Given the description of an element on the screen output the (x, y) to click on. 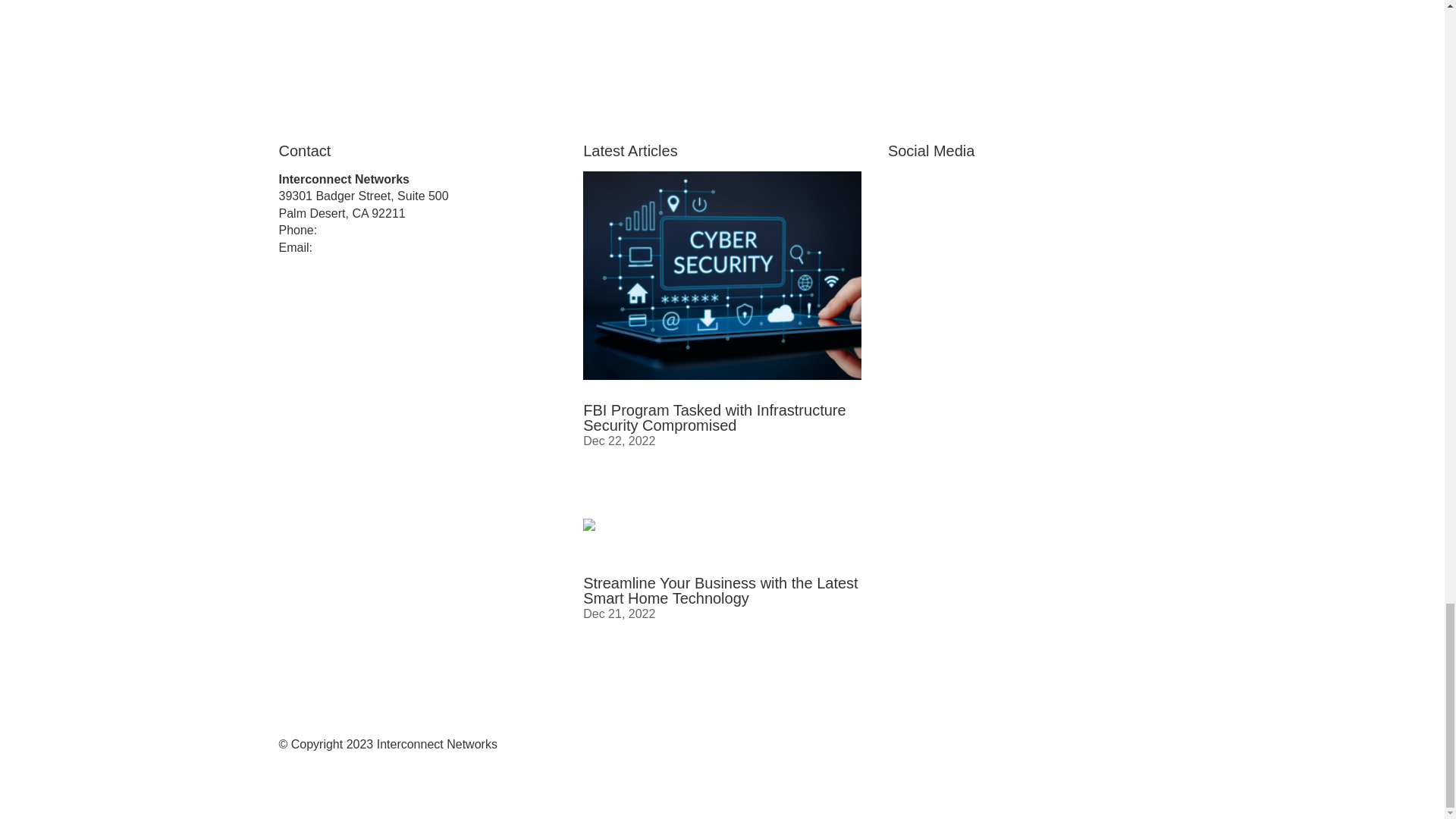
Follow on Facebook (900, 183)
Follow on RSS (930, 183)
